Given the description of an element on the screen output the (x, y) to click on. 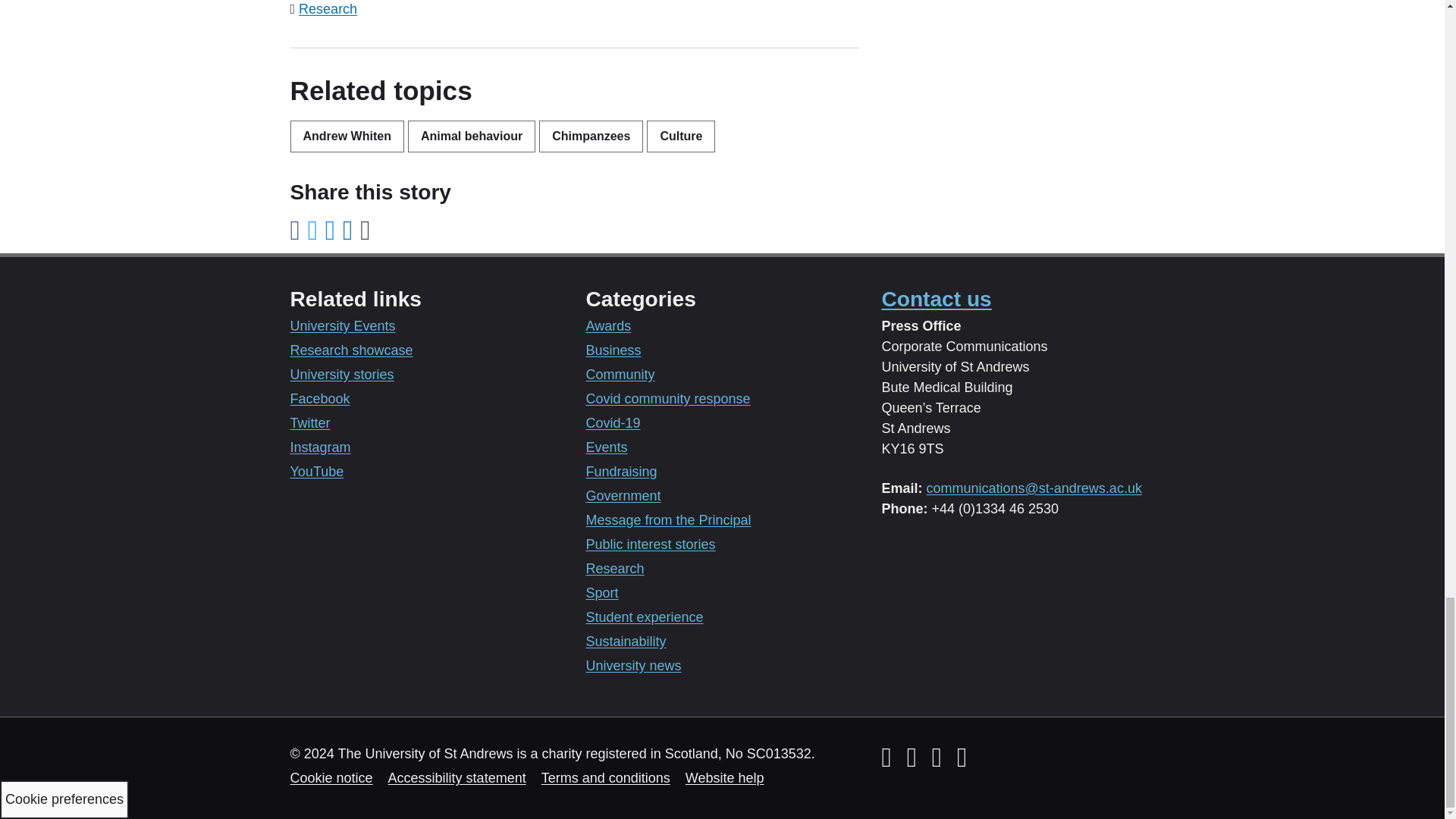
Chimpanzees (590, 136)
Culture (680, 136)
Research (327, 8)
Andrew Whiten (346, 136)
Animal behaviour (471, 136)
